Given the description of an element on the screen output the (x, y) to click on. 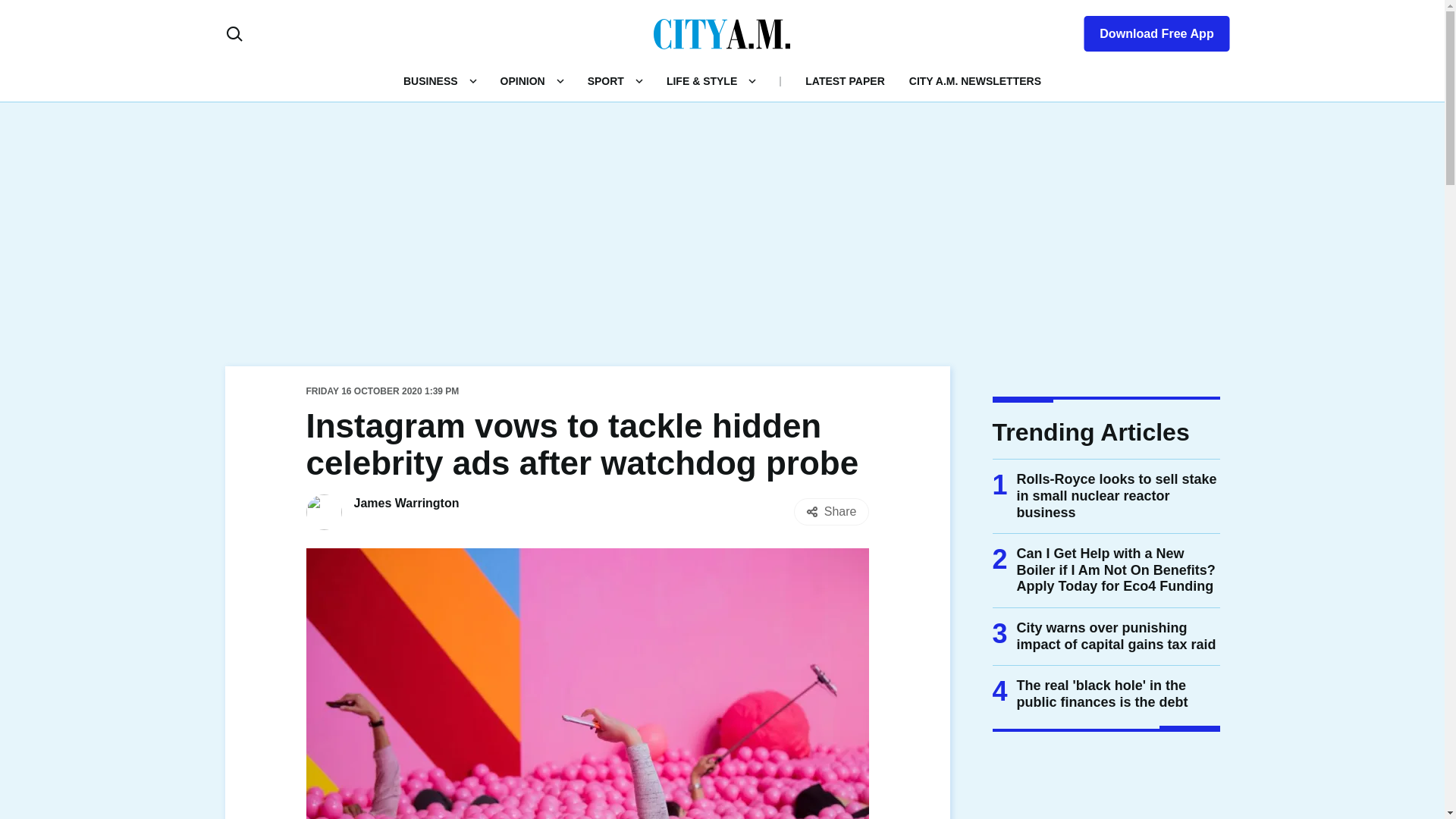
BUSINESS (430, 80)
CityAM (721, 33)
OPINION (522, 80)
Download Free App (1146, 30)
SPORT (606, 80)
